Given the description of an element on the screen output the (x, y) to click on. 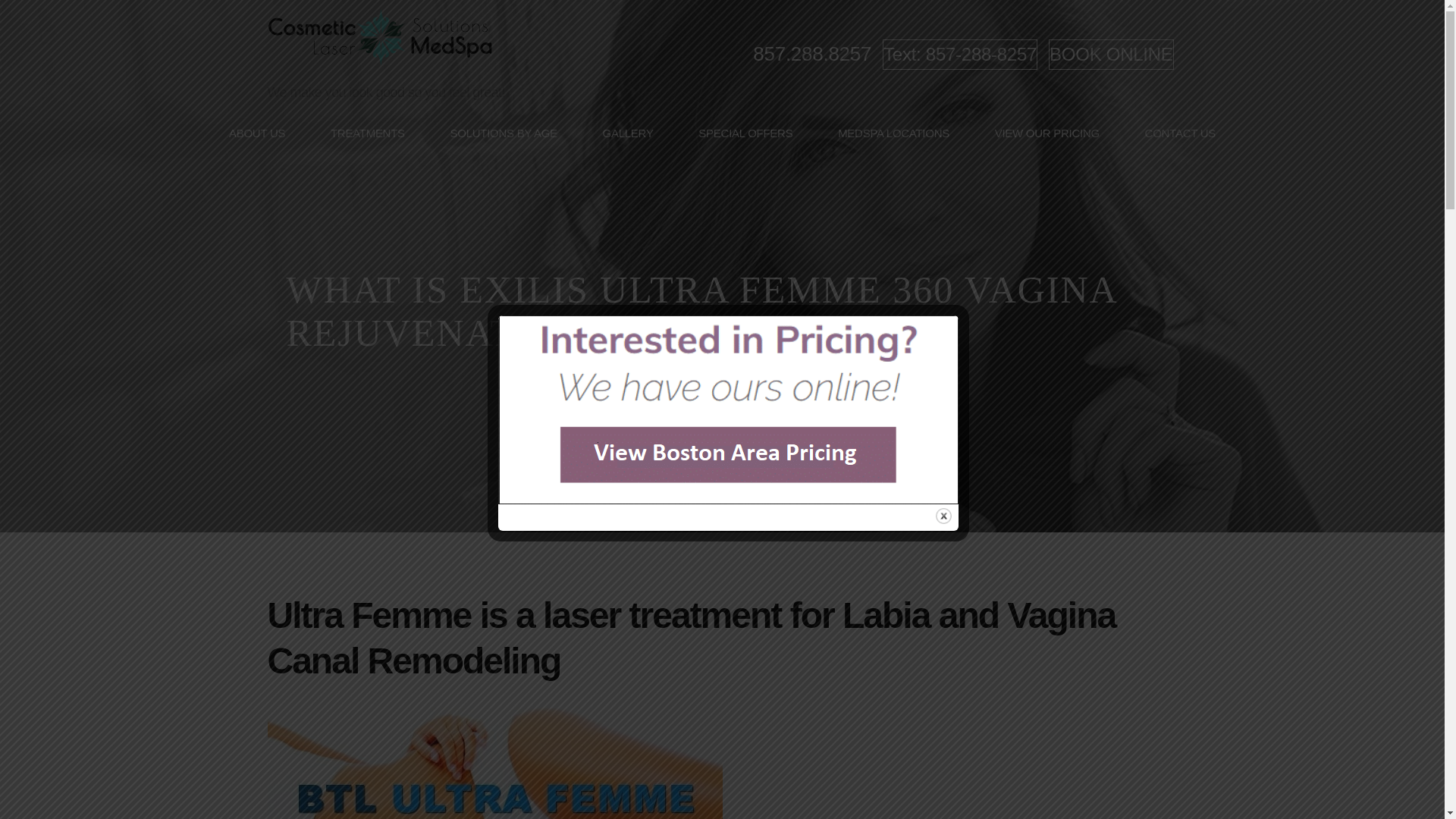
Close (944, 515)
